Given the description of an element on the screen output the (x, y) to click on. 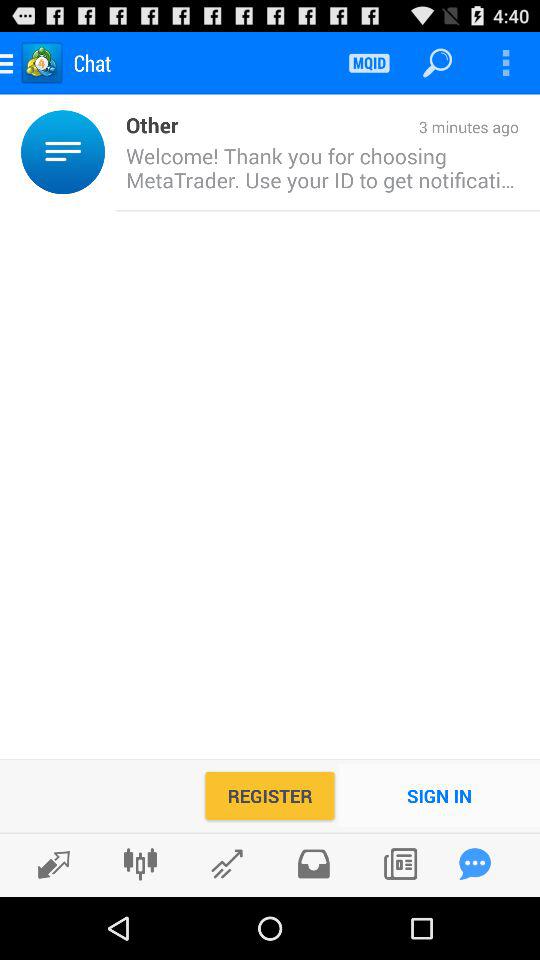
tap the icon next to the other item (348, 128)
